Given the description of an element on the screen output the (x, y) to click on. 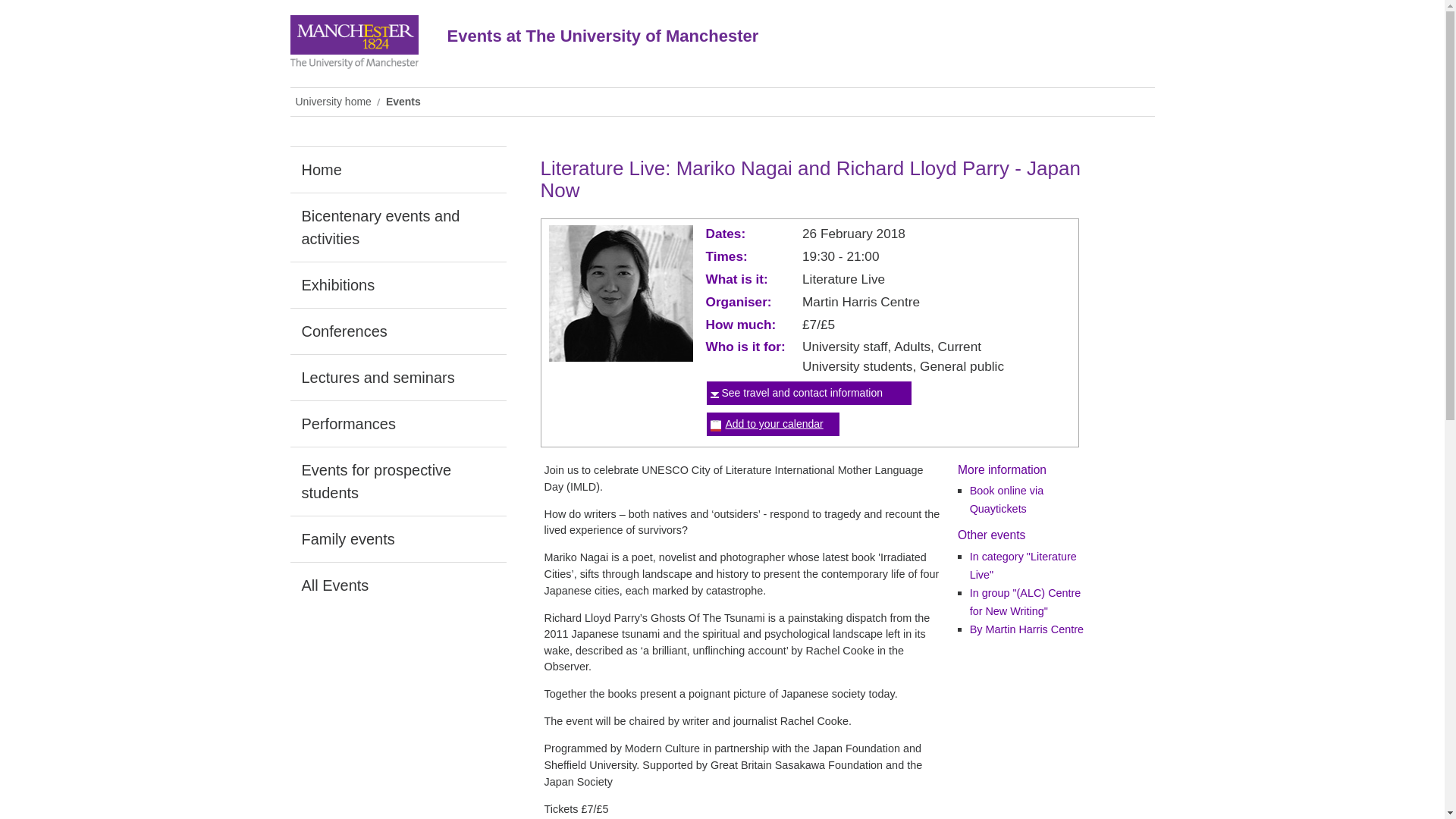
Lectures and seminars (397, 377)
Conferences (397, 330)
Performances (397, 423)
Home (397, 169)
Book online via Quaytickets (1006, 499)
Bicentenary events and activities (397, 227)
All Events (397, 585)
By Martin Harris Centre (1026, 629)
Download iCal file (773, 423)
Add to your calendar (773, 423)
University home (334, 101)
Events (404, 101)
Family events (397, 538)
Events at The University of Manchester (752, 47)
Exhibitions (397, 284)
